Given the description of an element on the screen output the (x, y) to click on. 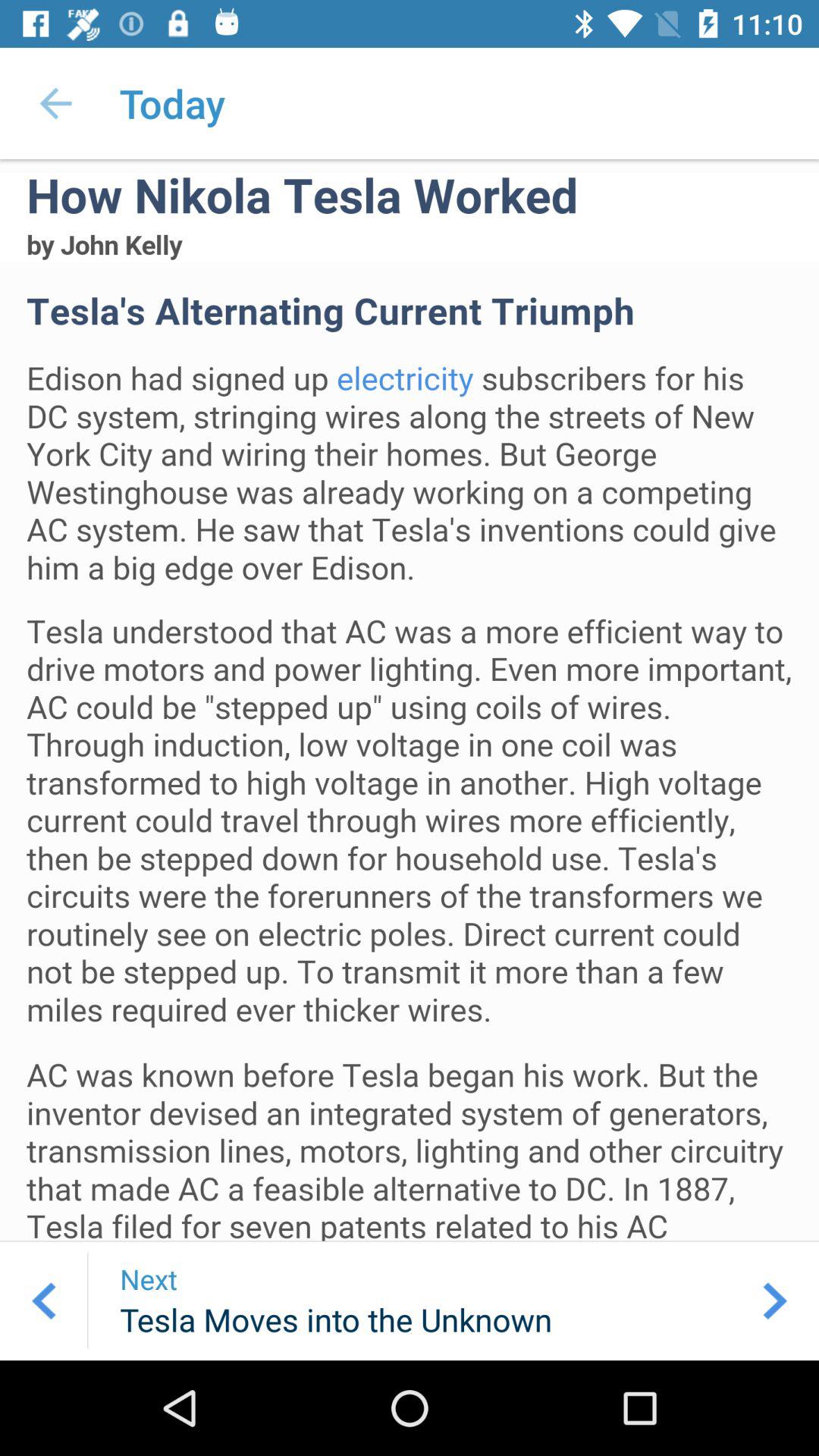
go next button (775, 1300)
